Given the description of an element on the screen output the (x, y) to click on. 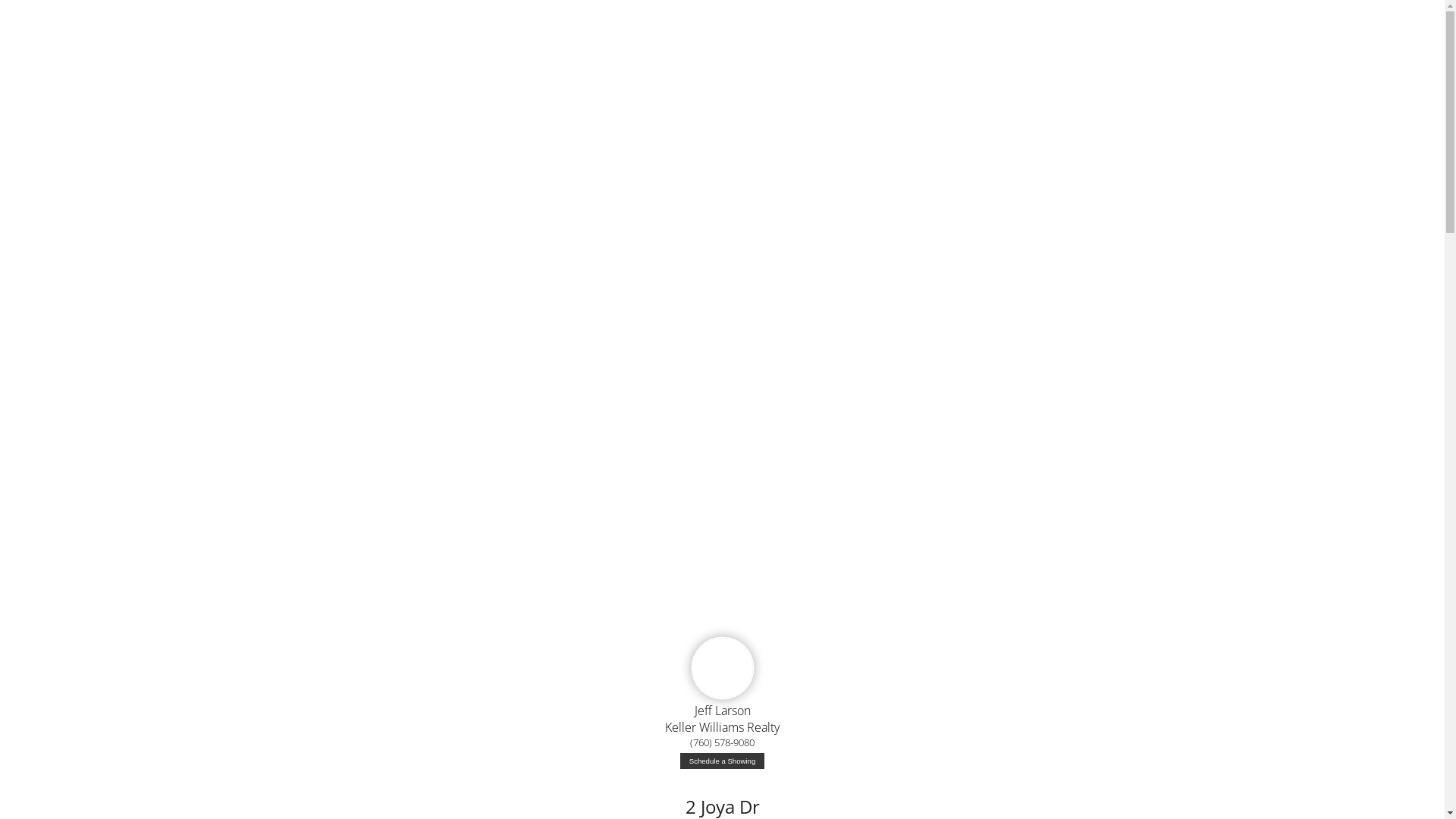
Schedule a Showing Element type: text (722, 760)
